Given the description of an element on the screen output the (x, y) to click on. 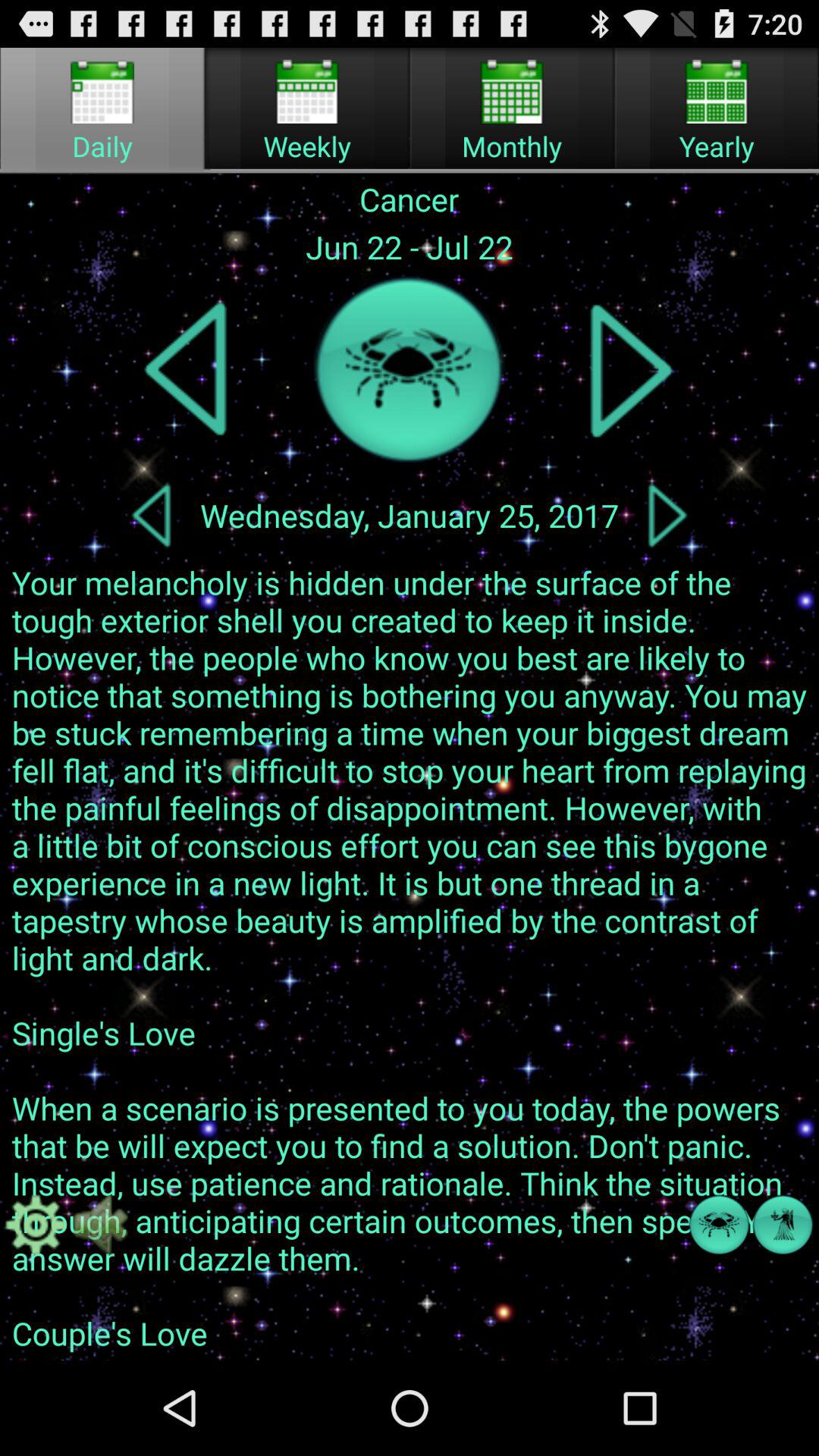
go back to previous day (151, 514)
